Given the description of an element on the screen output the (x, y) to click on. 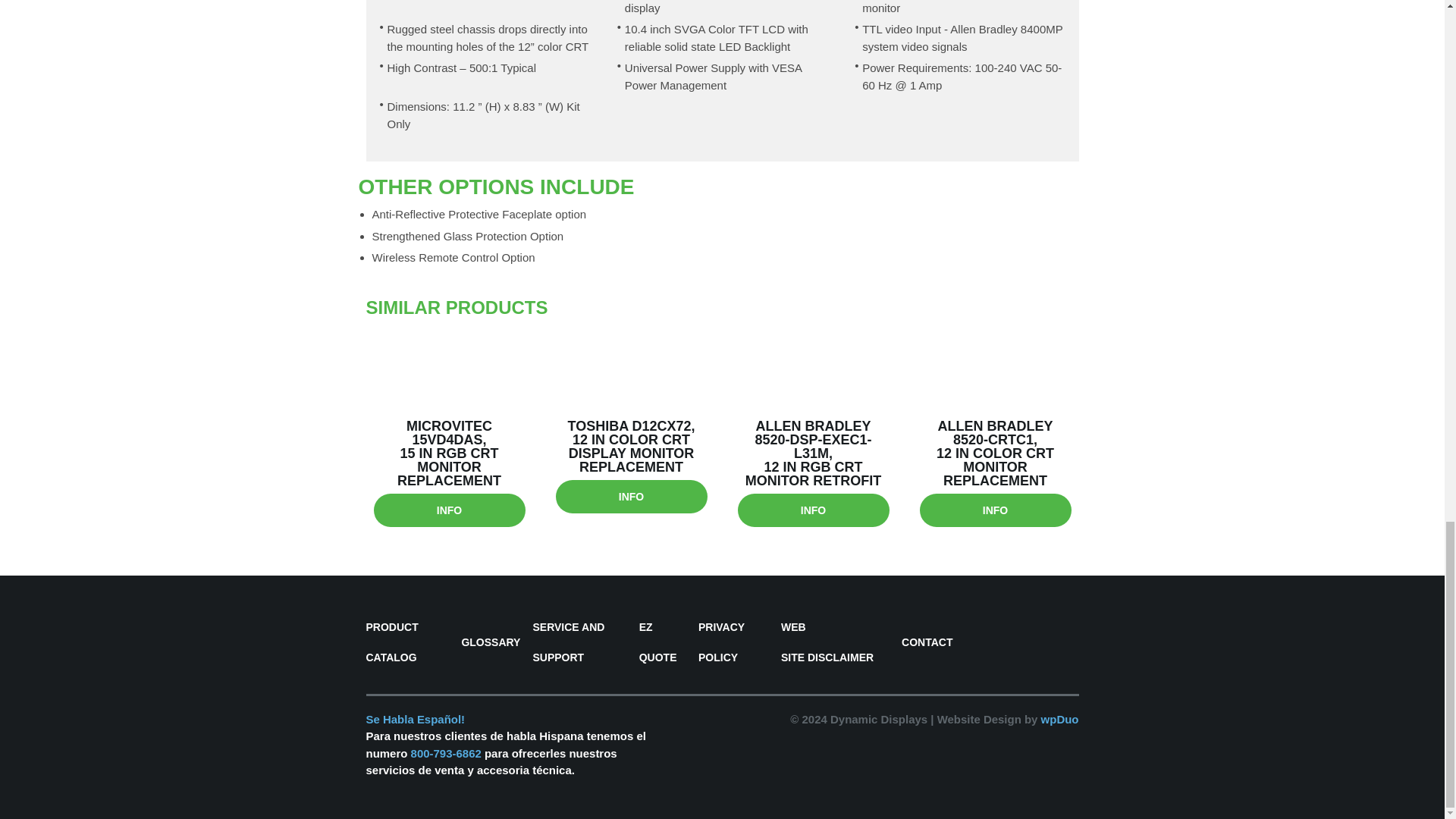
LinkedIn (1063, 626)
Facebook (1020, 626)
Website Design by Satellite Six (1007, 718)
